Given the description of an element on the screen output the (x, y) to click on. 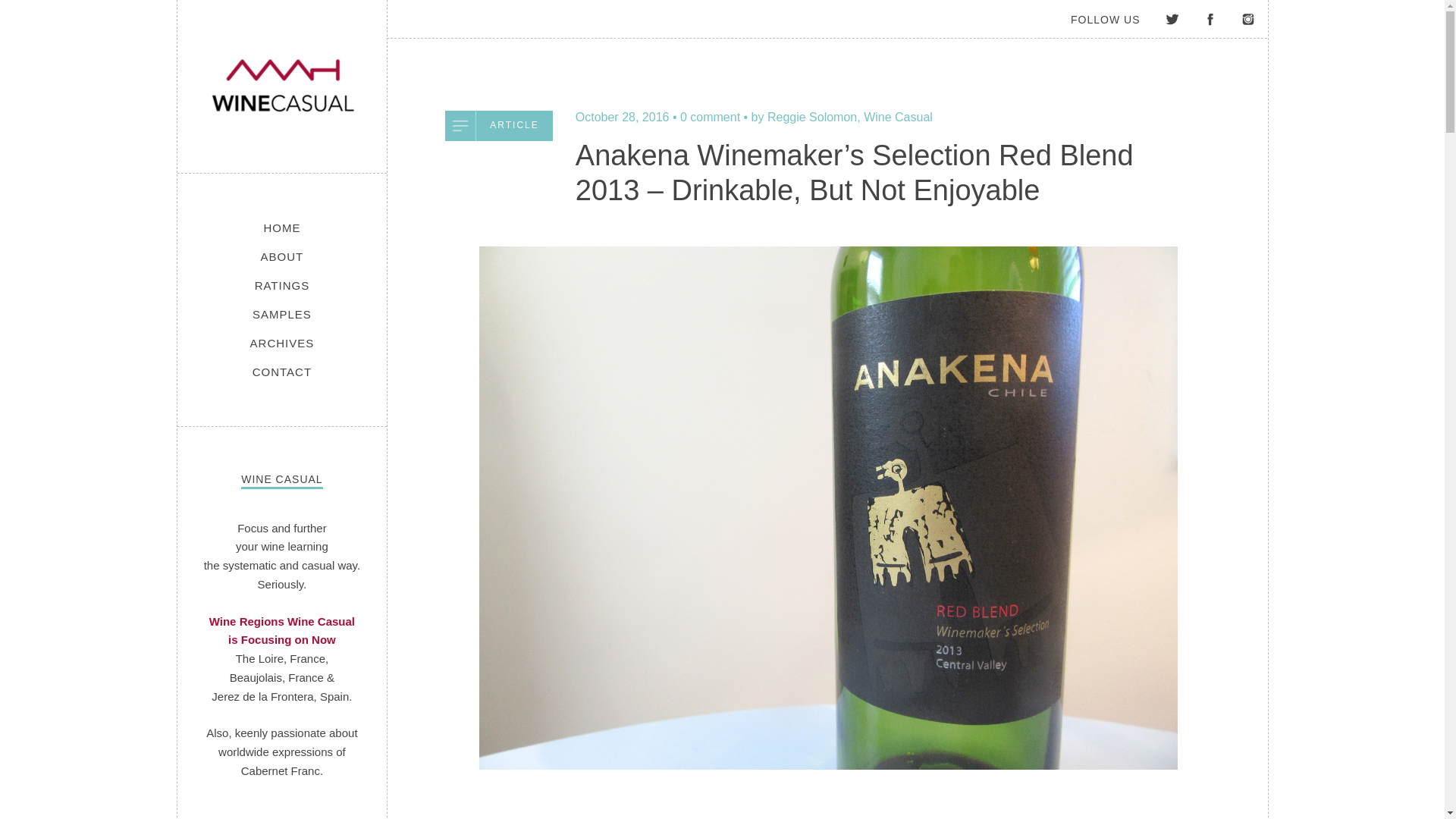
Twitter (1172, 18)
All posts by Reggie Solomon, Wine Casual (842, 116)
by Reggie Solomon, Wine Casual (842, 116)
0 comment (709, 116)
Instagram (1247, 18)
Twitter (1172, 18)
SAMPLES (282, 313)
HOME (281, 227)
RATINGS (281, 285)
WINE CASUAL (281, 85)
ABOUT (282, 256)
ARCHIVES (282, 343)
Facebook (1209, 18)
CONTACT (282, 371)
October 28, 2016 (622, 116)
